Given the description of an element on the screen output the (x, y) to click on. 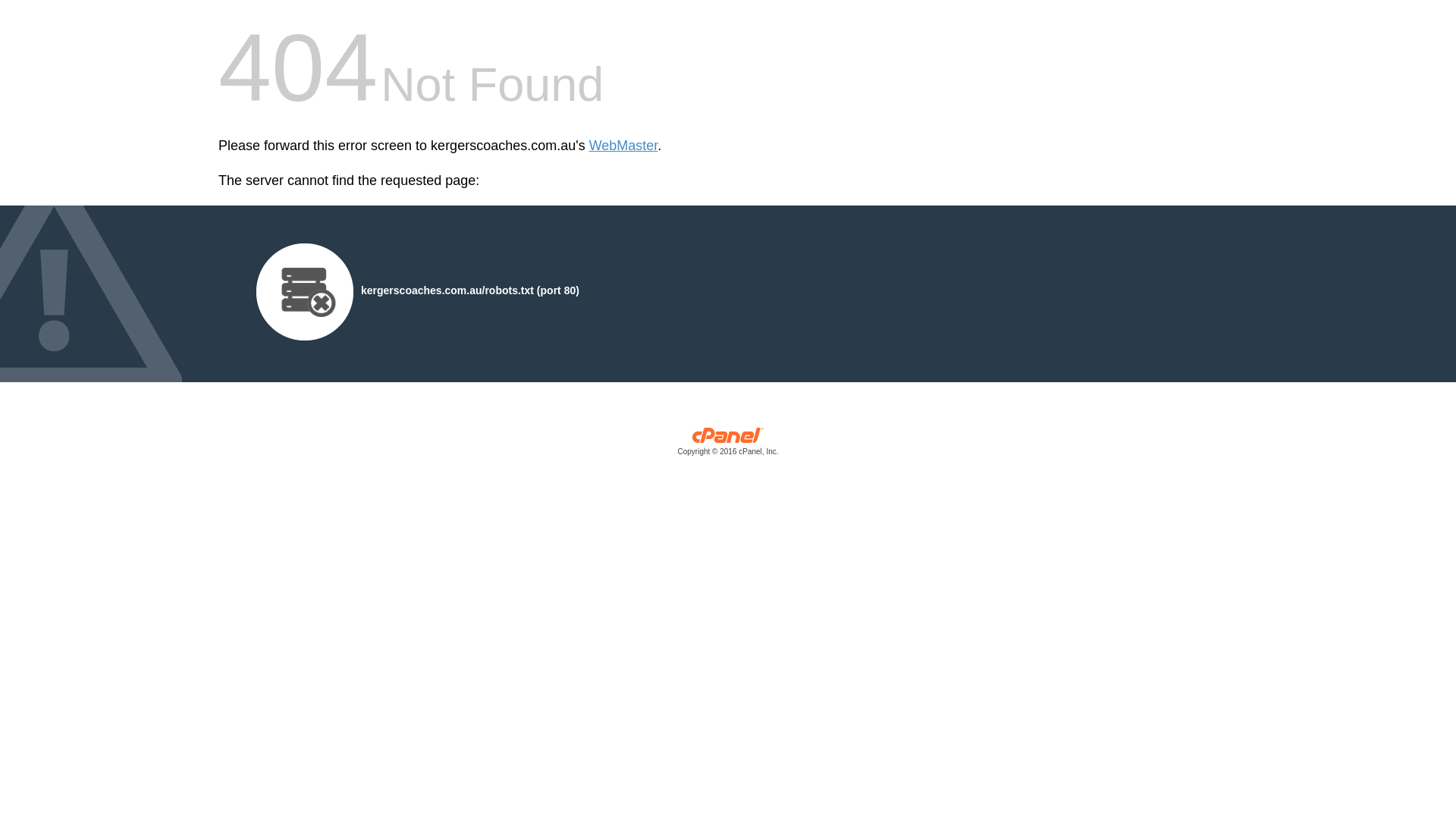
WebMaster Element type: text (623, 145)
